Given the description of an element on the screen output the (x, y) to click on. 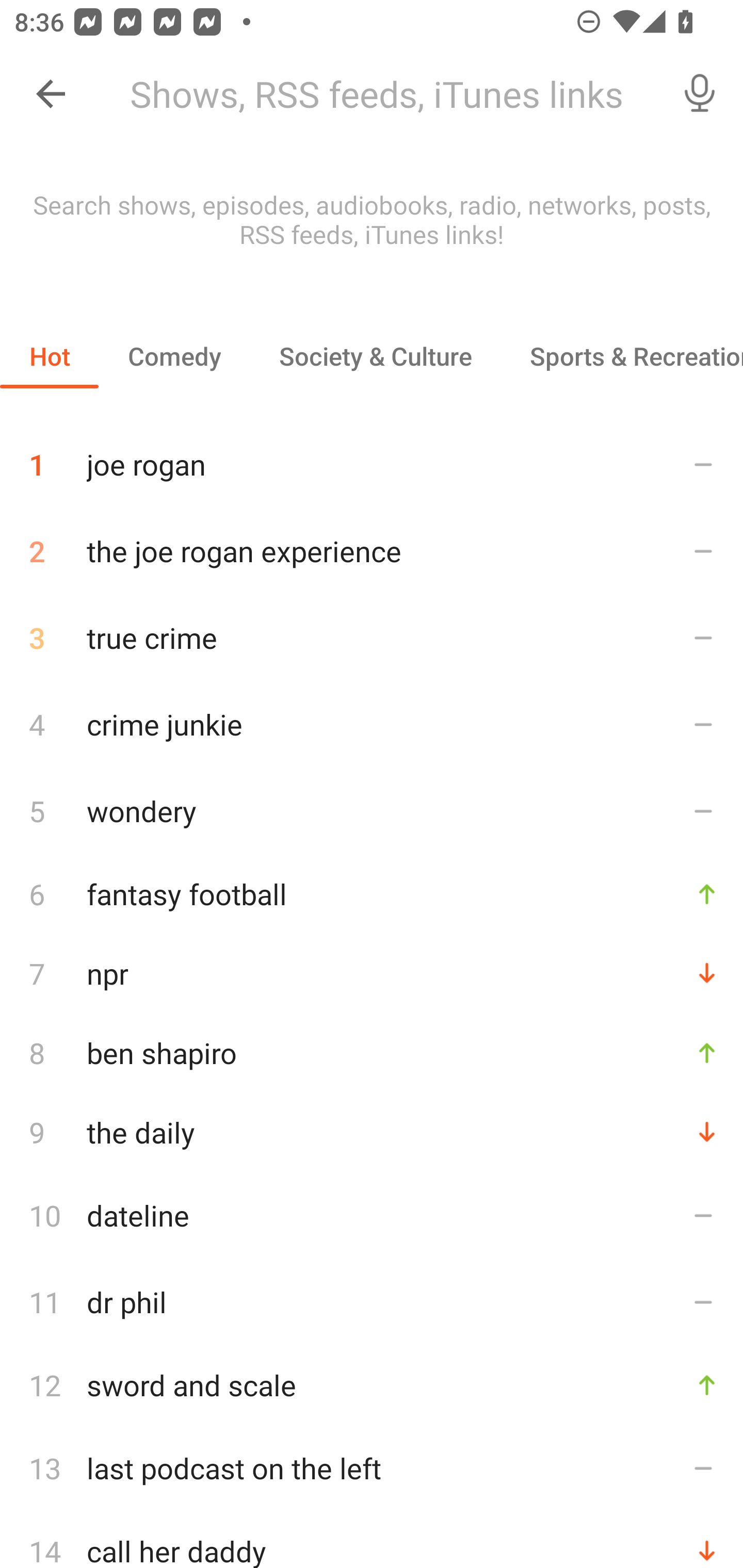
Collapse (50, 93)
Voice Search (699, 93)
Shows, RSS feeds, iTunes links (385, 94)
Hot (49, 355)
Comedy (173, 355)
Society & Culture (374, 355)
Sports & Recreation (621, 355)
1 joe rogan (371, 457)
2 the joe rogan experience (371, 551)
3 true crime (371, 637)
4 crime junkie (371, 723)
5 wondery (371, 810)
6 fantasy football (371, 893)
7 npr (371, 972)
8 ben shapiro (371, 1052)
9 the daily (371, 1131)
10 dateline (371, 1215)
11 dr phil (371, 1302)
12 sword and scale (371, 1385)
13 last podcast on the left (371, 1468)
14 call her daddy (371, 1539)
